Given the description of an element on the screen output the (x, y) to click on. 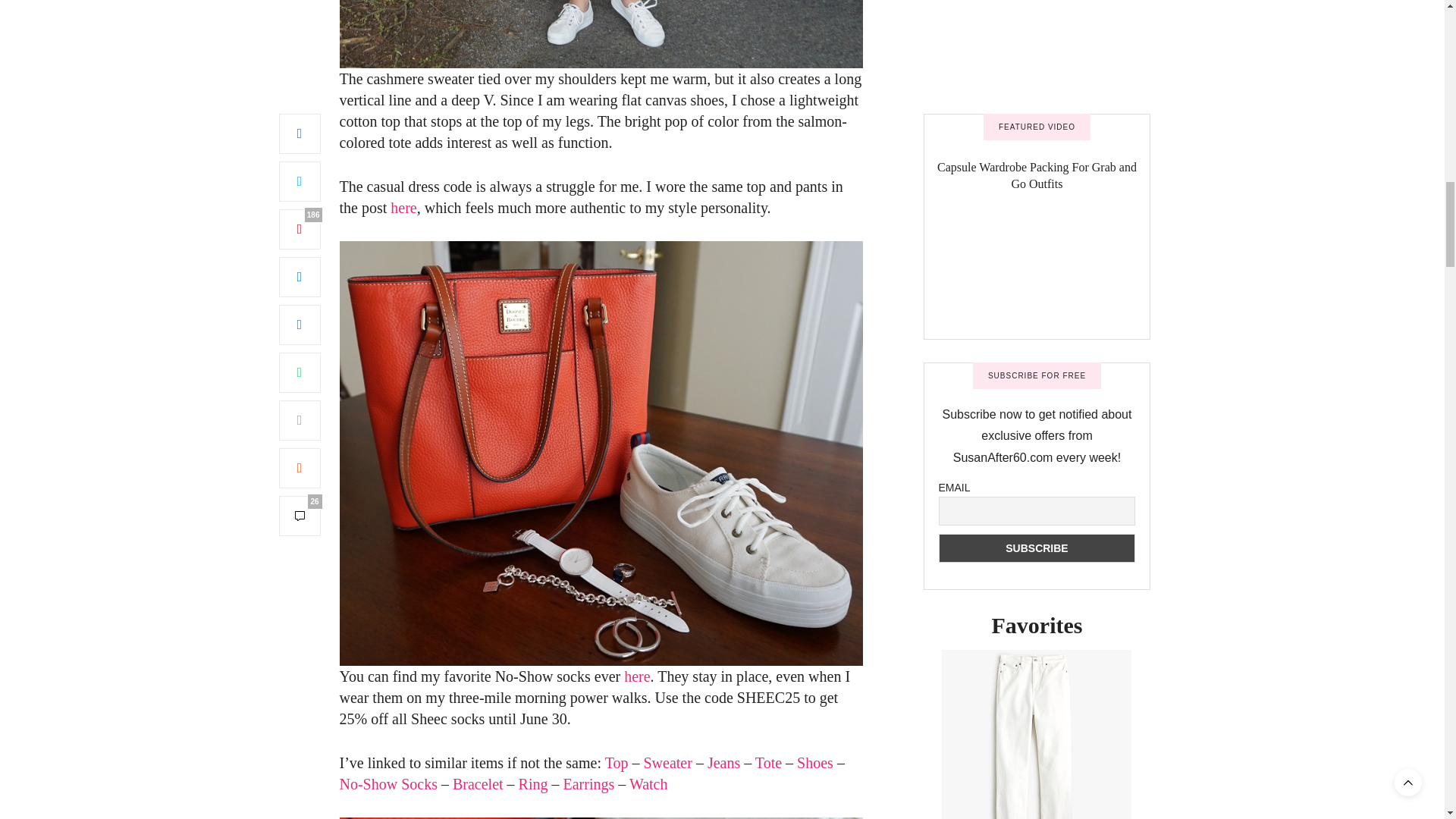
here (403, 207)
